Given the description of an element on the screen output the (x, y) to click on. 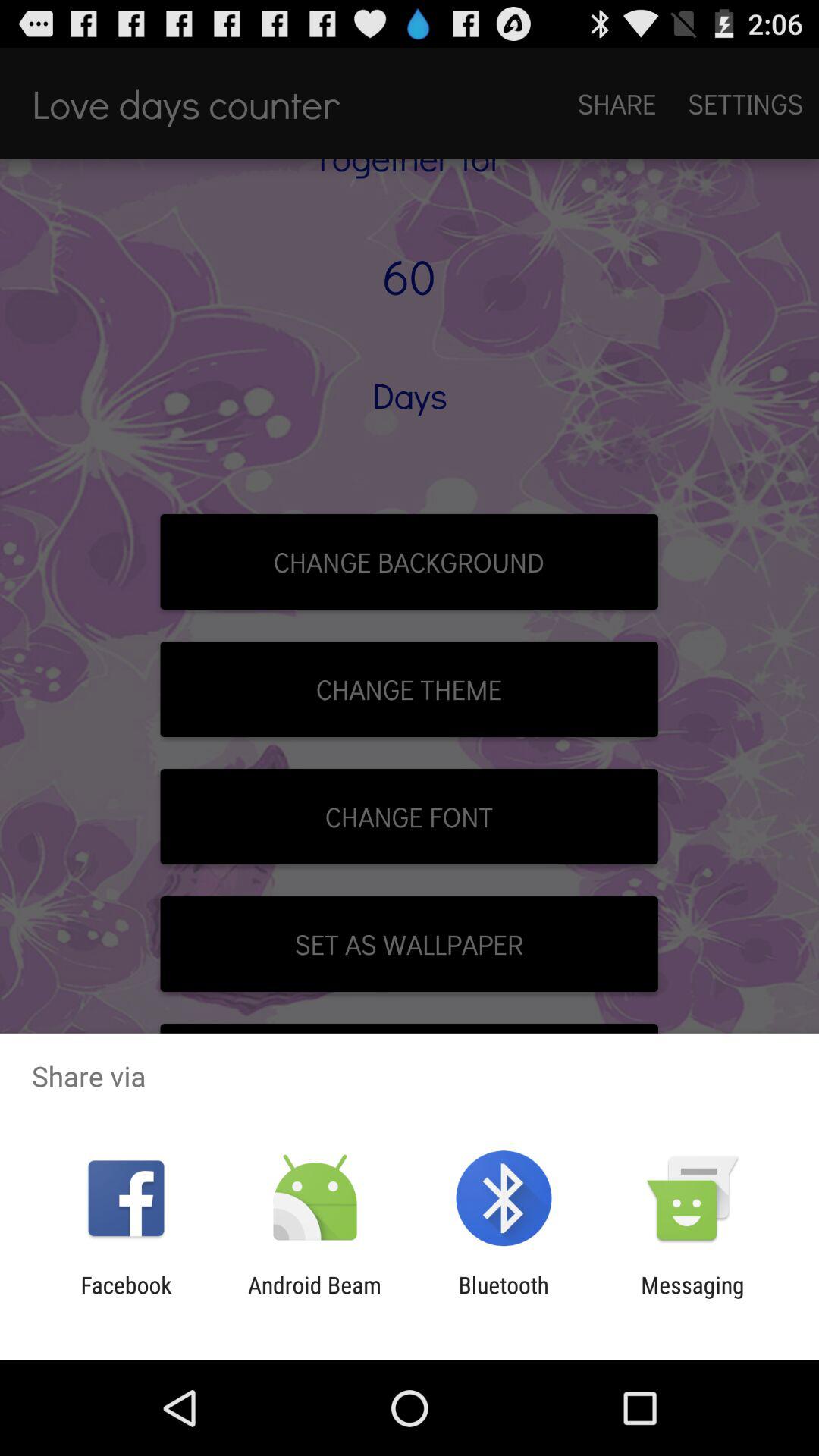
select the app next to bluetooth app (692, 1298)
